Given the description of an element on the screen output the (x, y) to click on. 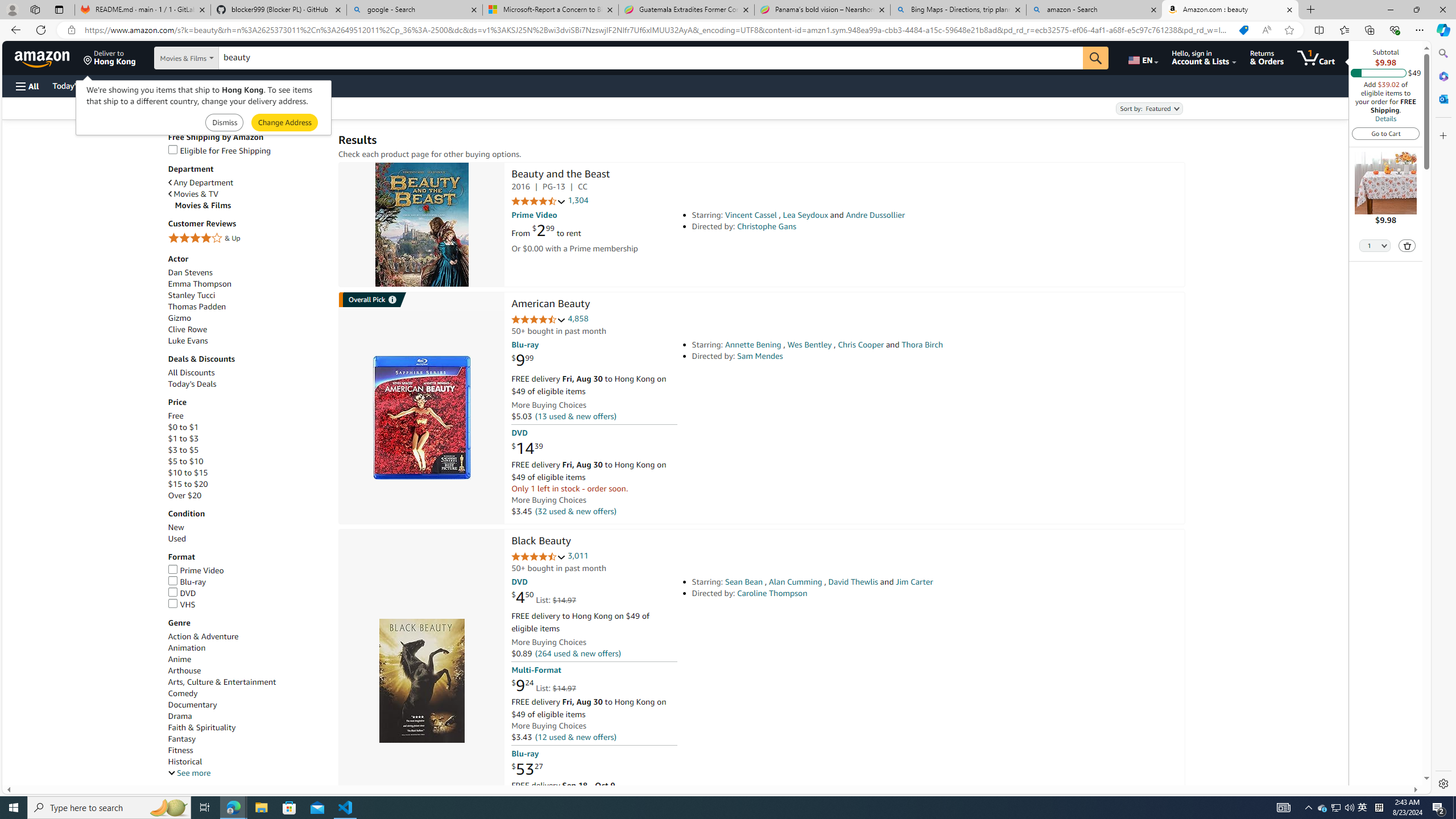
Beauty and the Beast (421, 224)
Drama (179, 715)
Quantity Selector (1374, 245)
Luke Evans (187, 340)
Blu-ray (247, 582)
DVD (181, 592)
Beauty and the Beast (560, 174)
Annette Bening (753, 344)
Luke Evans (247, 340)
Free (247, 415)
Directed by: Sam Mendes (850, 355)
$15 to $20 (187, 484)
Prime Video (247, 570)
